Given the description of an element on the screen output the (x, y) to click on. 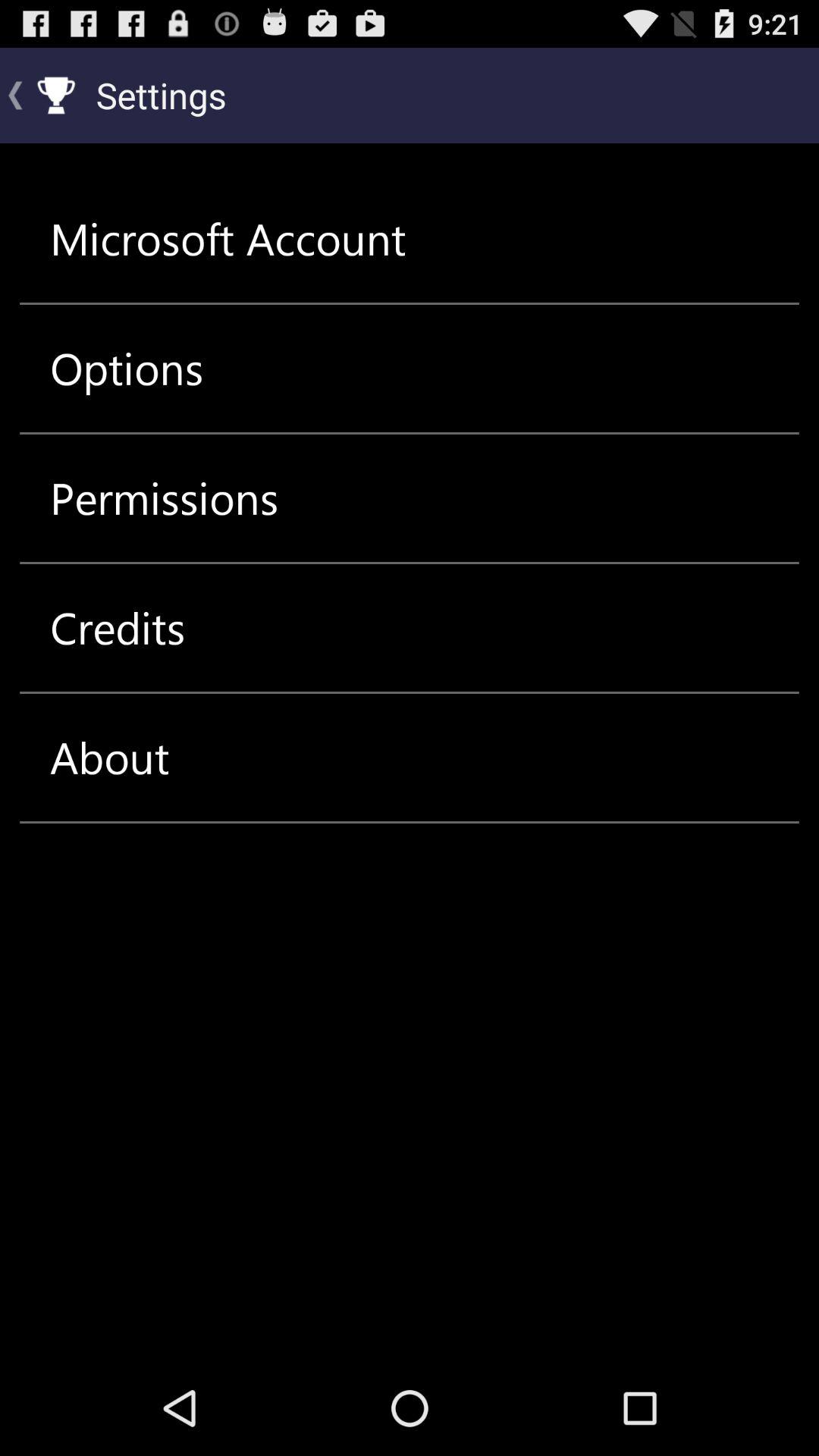
click about (109, 757)
